Given the description of an element on the screen output the (x, y) to click on. 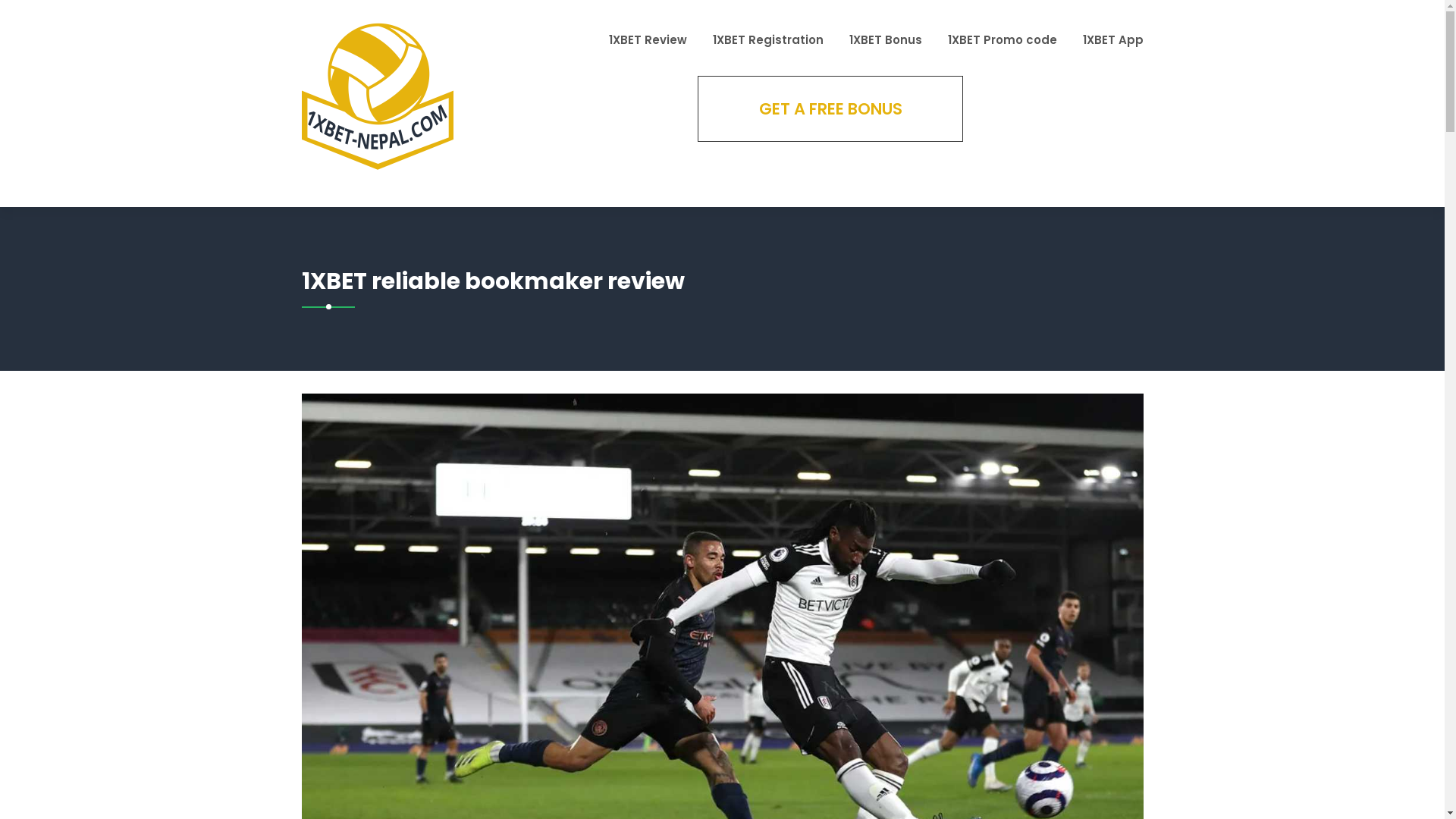
1XBET Promo code Element type: text (1002, 39)
1XBET Bonus Element type: text (885, 39)
1XBET Registration Element type: text (767, 39)
GET A FREE BONUS Element type: text (830, 108)
1XBET App Element type: text (1112, 39)
1XBET Review Element type: text (647, 39)
